Given the description of an element on the screen output the (x, y) to click on. 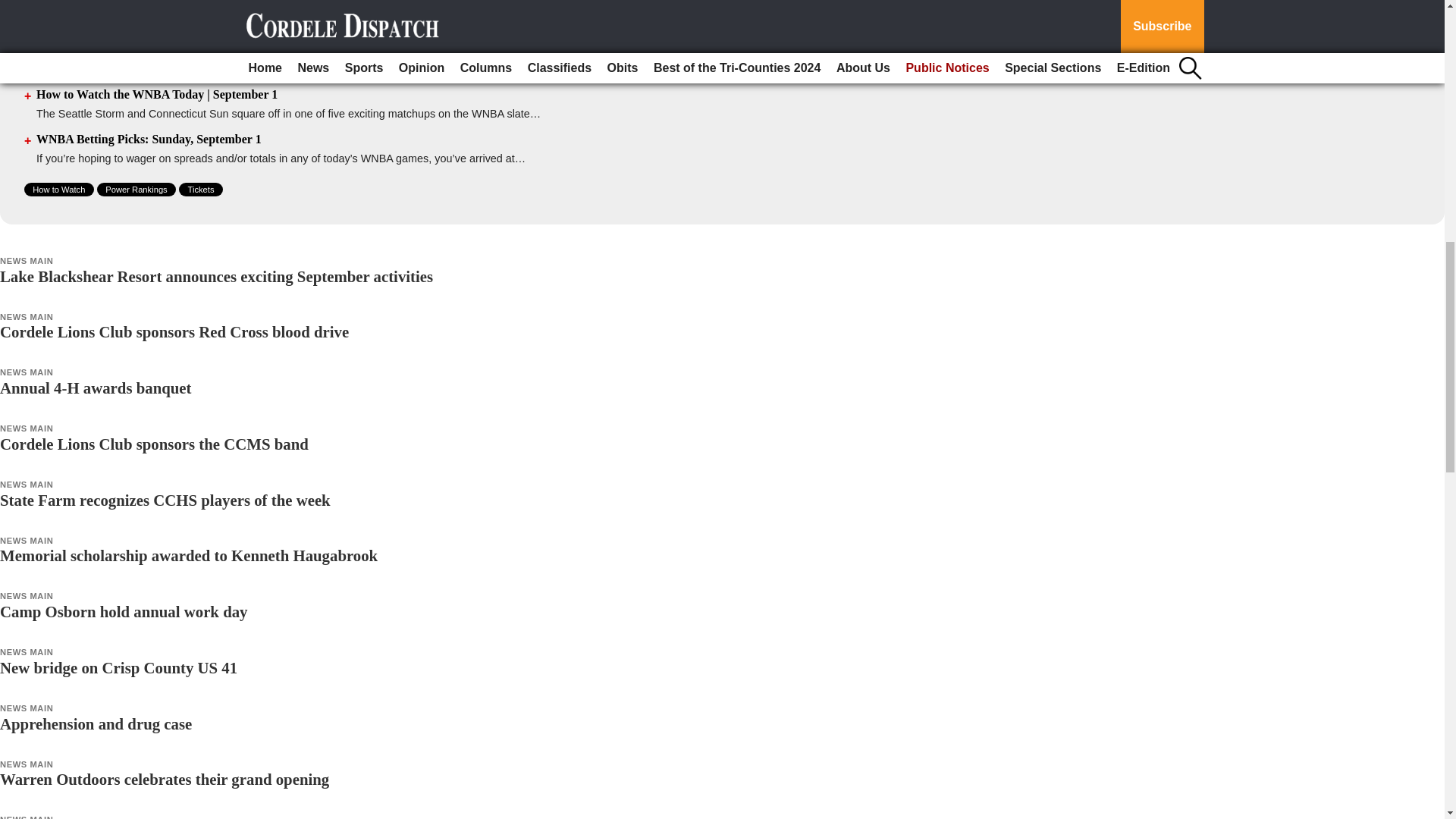
Annual 4-H awards banquet (96, 387)
Cordele Lions Club sponsors the CCMS band (154, 443)
New bridge on Crisp County US 41 (118, 667)
Apprehension and drug case (96, 723)
State Farm recognizes CCHS players of the week (165, 499)
Warren Outdoors celebrates their grand opening (164, 778)
WNBA Betting Picks: Sunday, September 1 (149, 138)
Power Rankings (136, 189)
New bridge on Crisp County US 41 (118, 667)
